Given the description of an element on the screen output the (x, y) to click on. 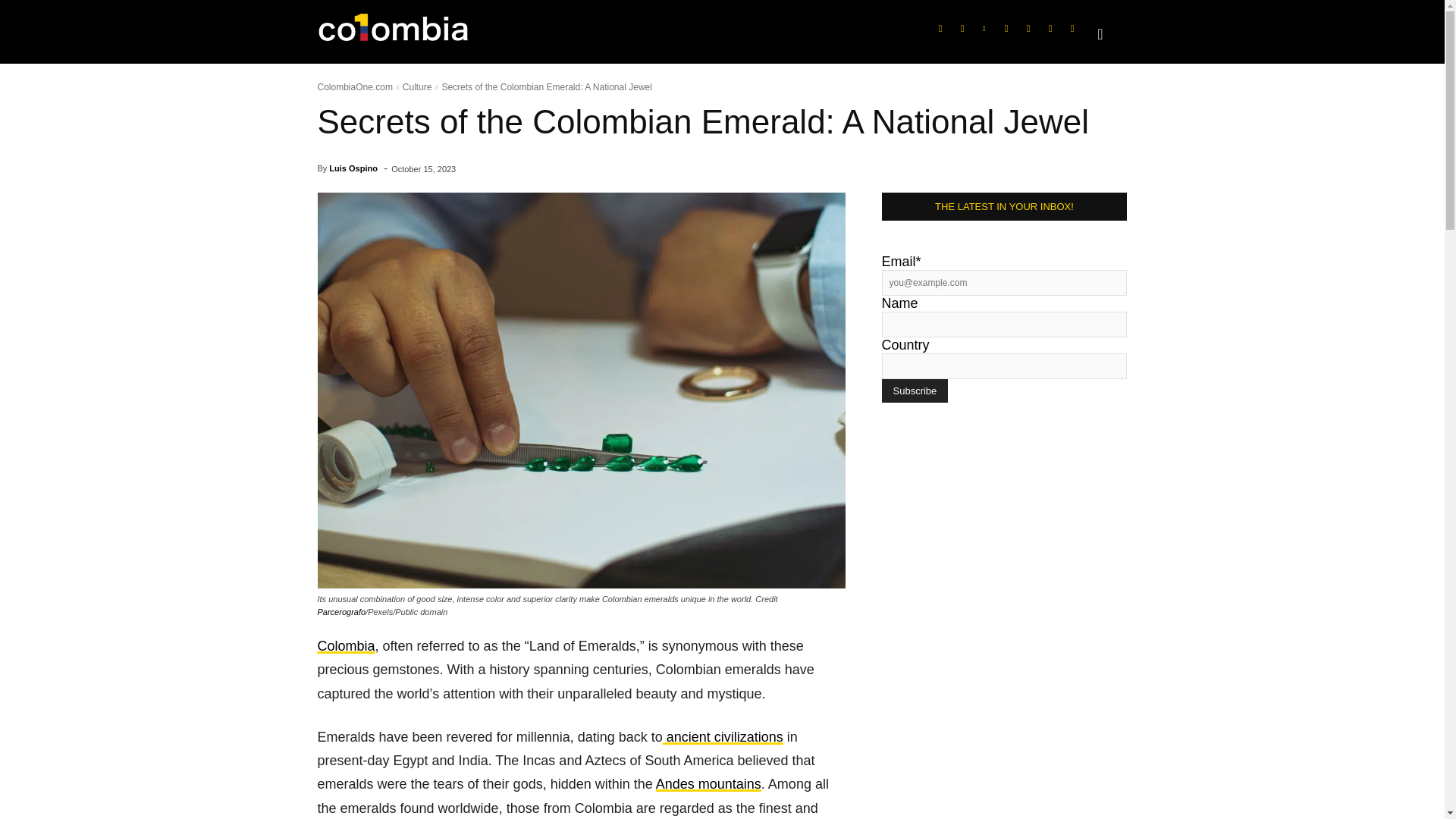
Instagram (962, 28)
Facebook (940, 28)
Subscribe (913, 390)
Twitter (1027, 28)
Youtube (1050, 28)
Linkedin (984, 28)
TikTok (1005, 28)
Colombia One: News from Colombia (392, 31)
Colombia One: News from Colombia (408, 31)
